Given the description of an element on the screen output the (x, y) to click on. 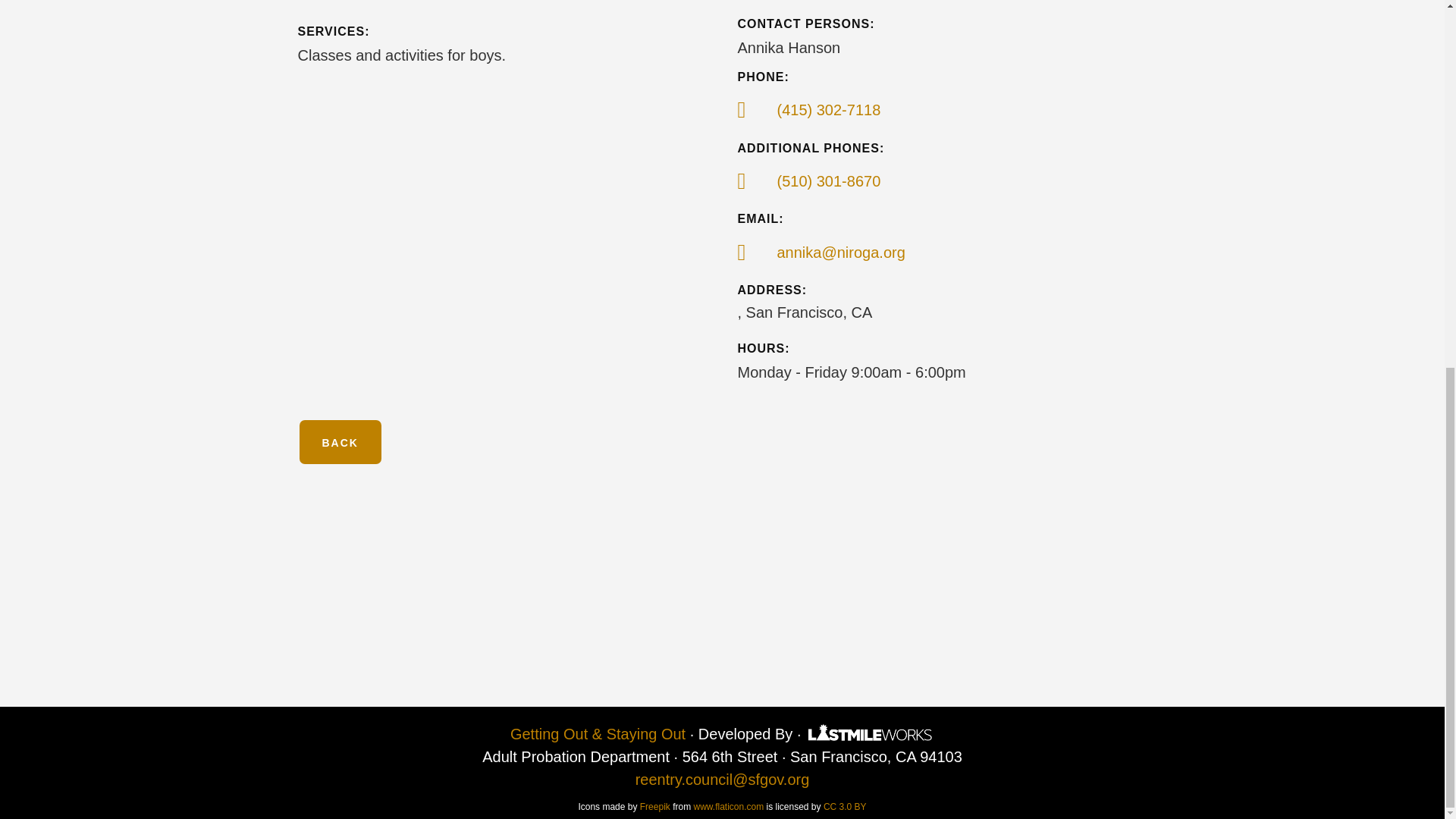
BACK (339, 442)
Creative Commons BY 3.0 (845, 806)
Freepik (654, 806)
CC 3.0 BY (845, 806)
Flaticon (727, 806)
www.flaticon.com (727, 806)
Freepik (654, 806)
